Given the description of an element on the screen output the (x, y) to click on. 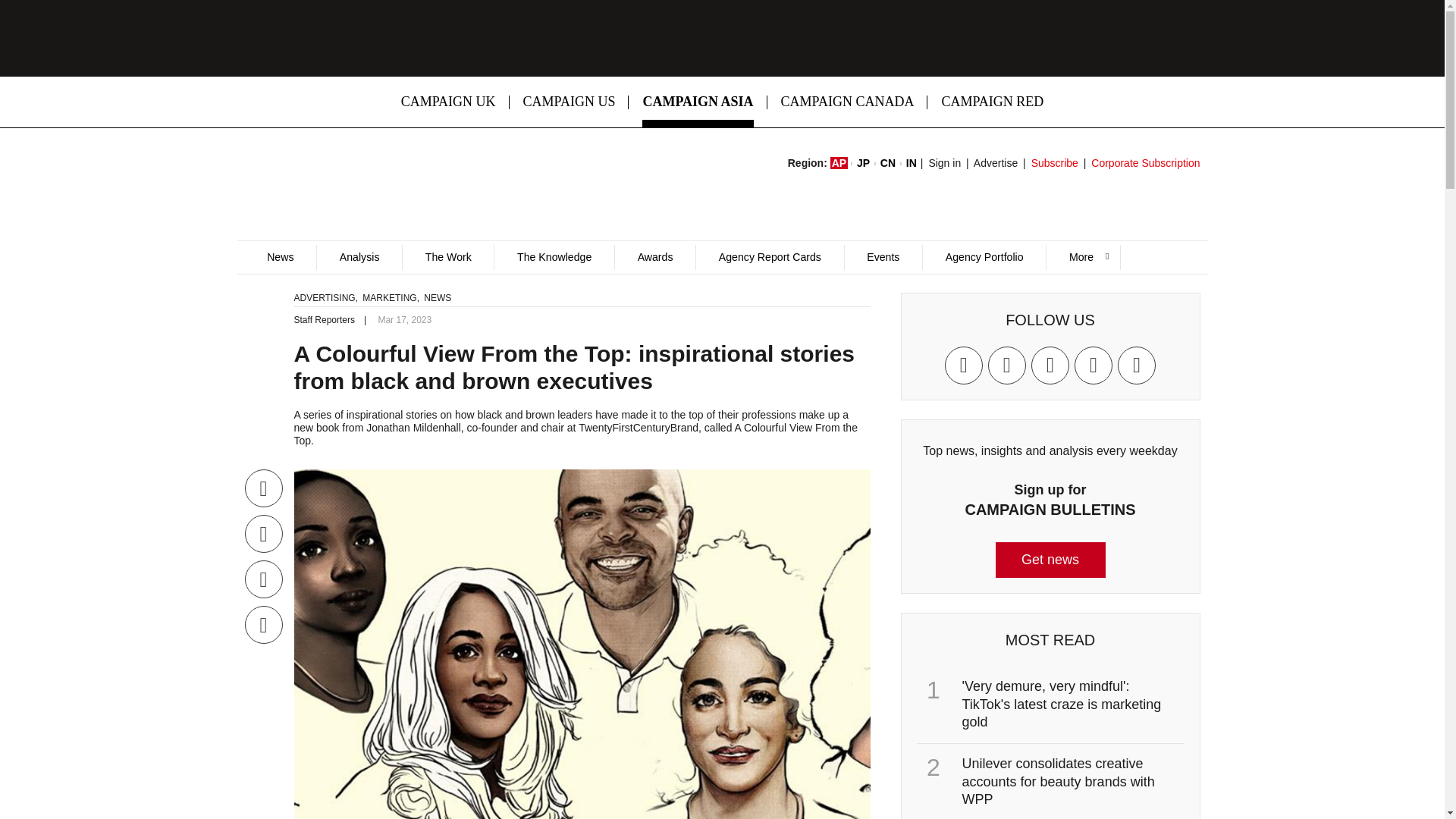
Agency Portfolio (983, 257)
The Work (447, 257)
More (1082, 257)
Awards (654, 257)
CAMPAIGN CANADA (847, 101)
CN (887, 162)
Subscribe (1054, 162)
Search (952, 310)
Advertise (995, 162)
The Knowledge (553, 257)
